Given the description of an element on the screen output the (x, y) to click on. 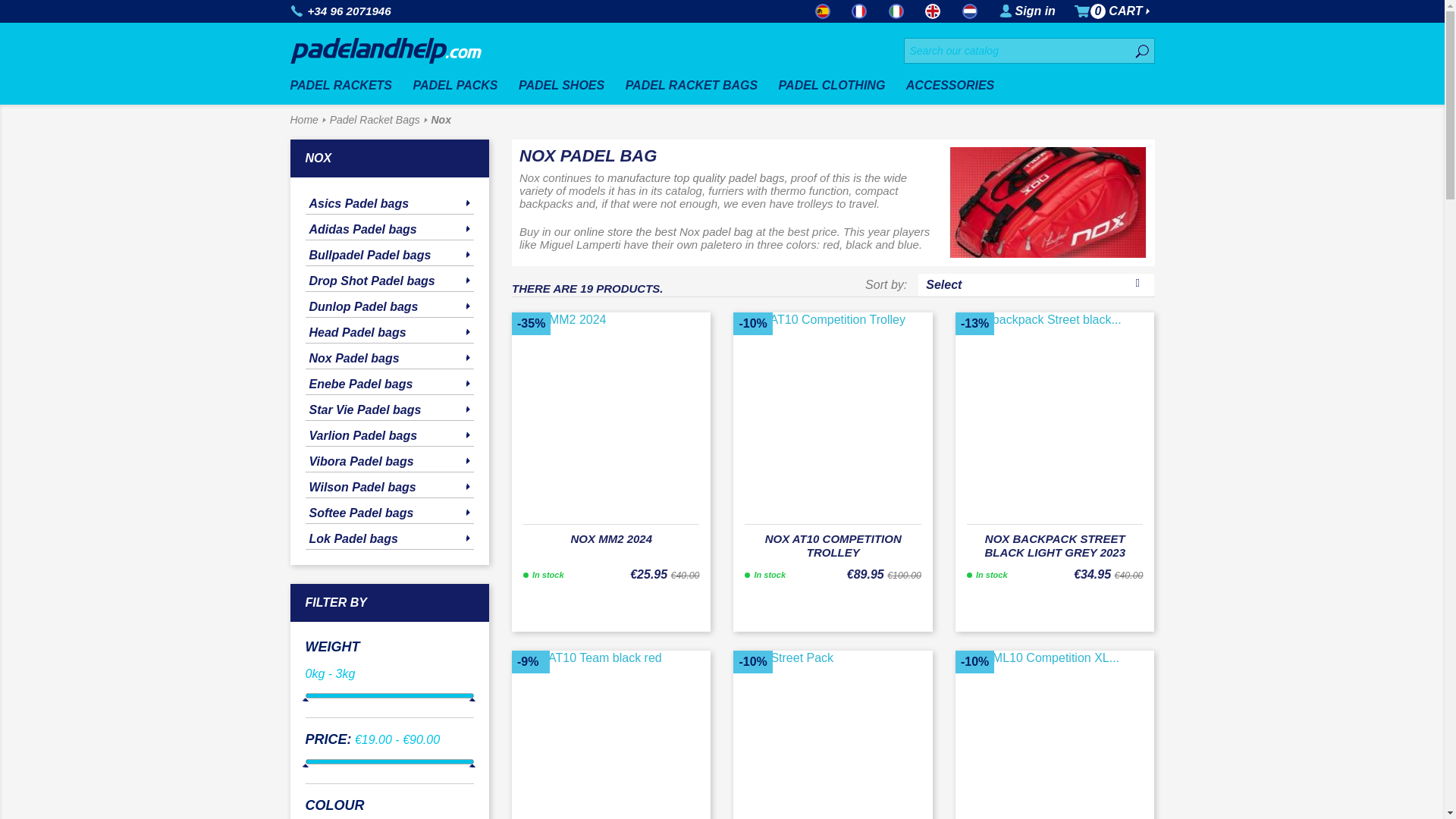
PADEL PACKS (460, 85)
PADEL SHOES (566, 85)
Log in to your customer account (1034, 10)
PADEL RACKETS (346, 85)
